Given the description of an element on the screen output the (x, y) to click on. 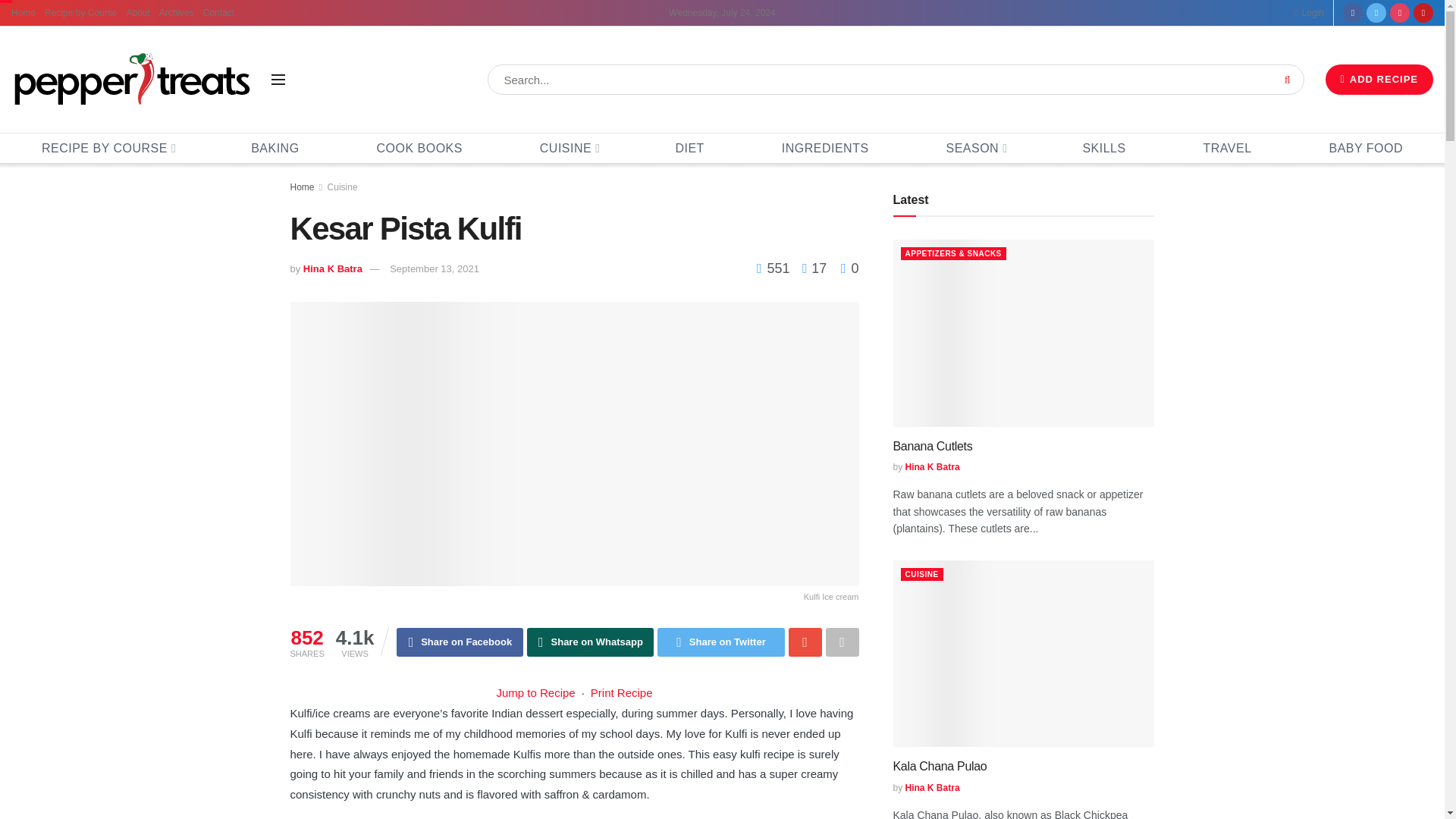
BAKING (275, 147)
Login (1308, 12)
CUISINE (568, 147)
Home (22, 12)
COOK BOOKS (419, 147)
Contact (218, 12)
About (137, 12)
RECIPE BY COURSE (107, 147)
Archives (175, 12)
ADD RECIPE (1378, 79)
Recipe by Course (80, 12)
